Given the description of an element on the screen output the (x, y) to click on. 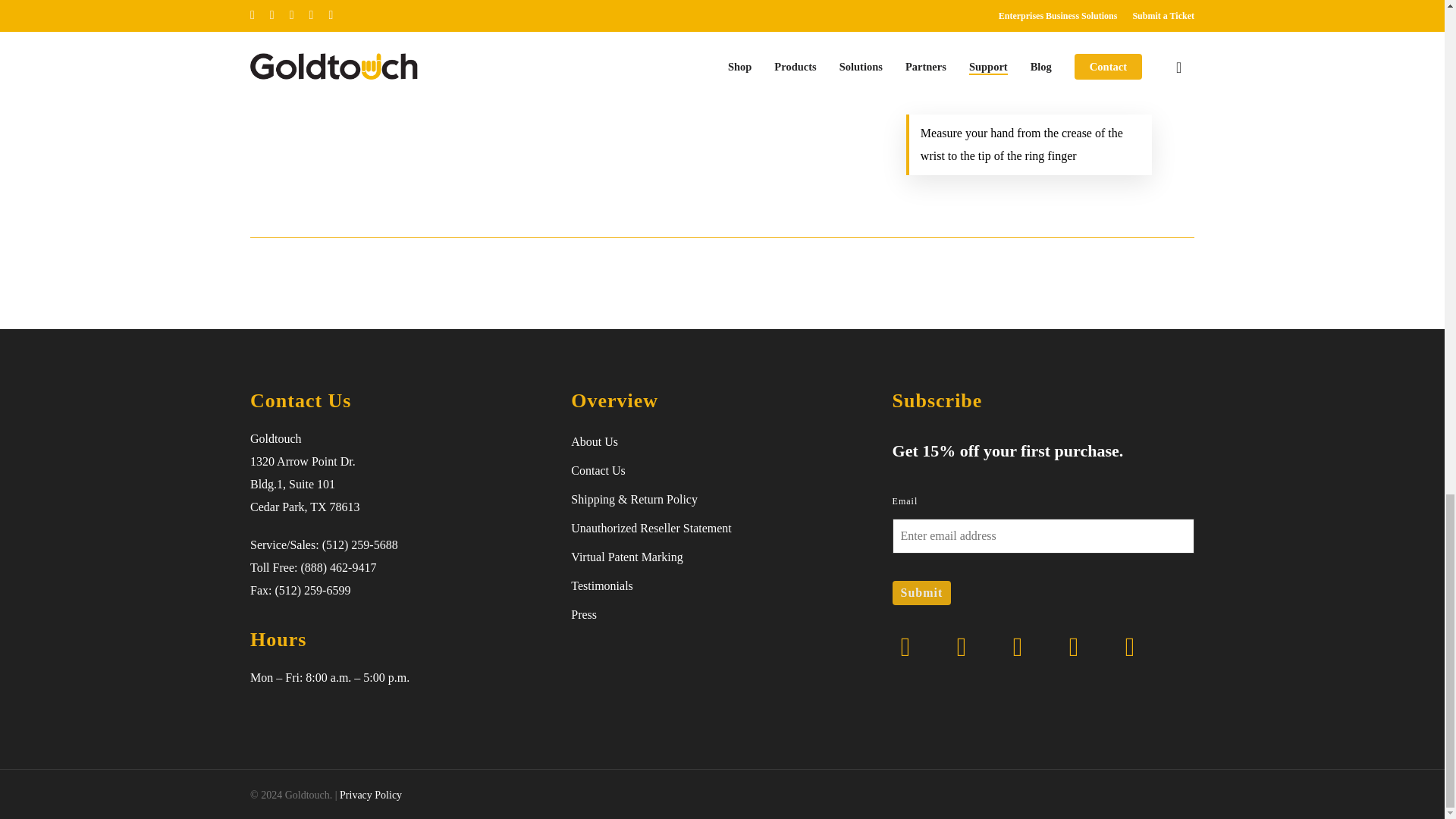
Submit (922, 592)
